Given the description of an element on the screen output the (x, y) to click on. 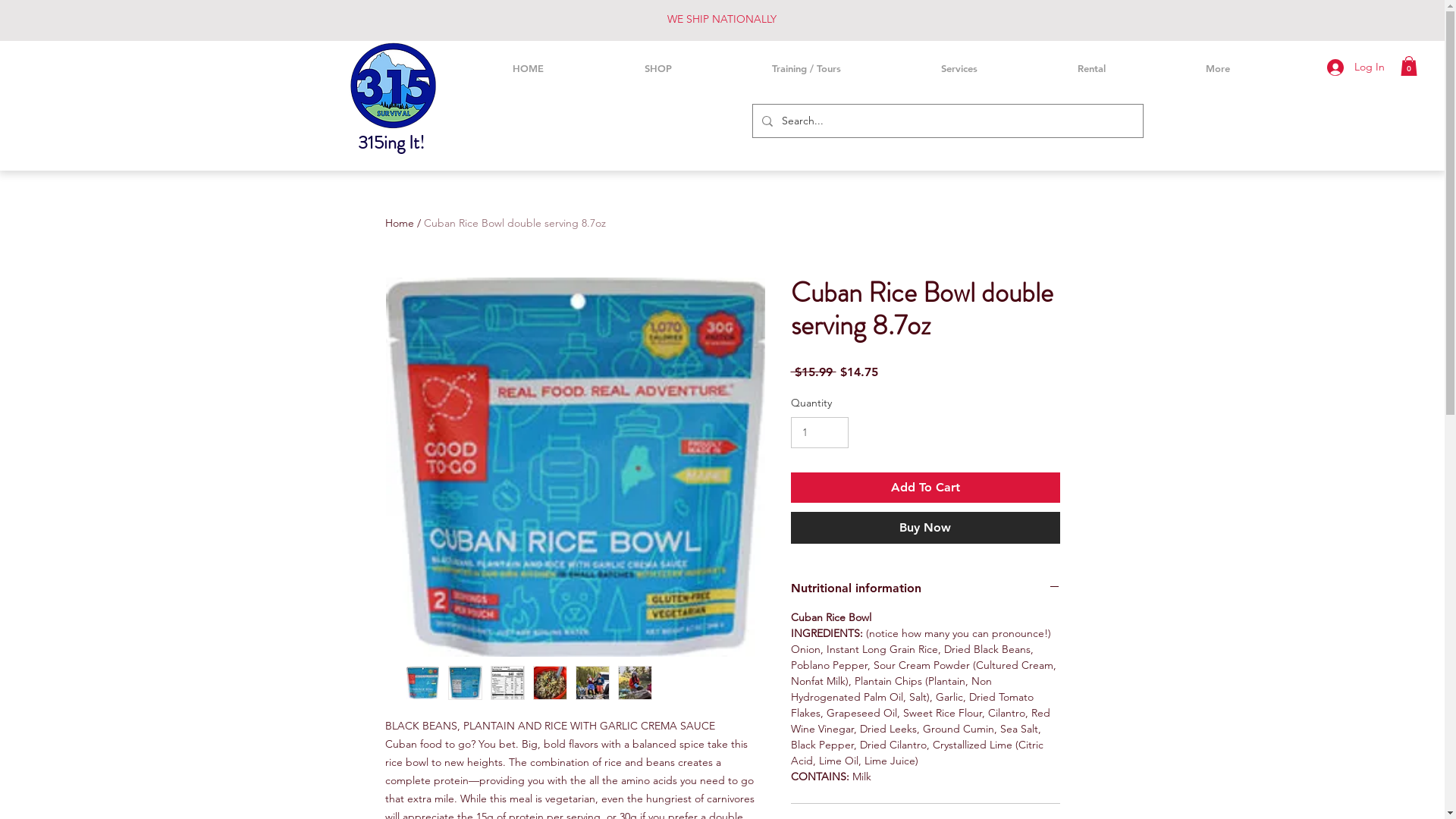
Log In Element type: text (1355, 67)
Home Element type: text (399, 222)
0 Element type: text (1408, 65)
Buy Now Element type: text (924, 527)
Add To Cart Element type: text (924, 487)
Nutritional information Element type: text (924, 588)
WE SHIP NATIONALLY Element type: text (721, 18)
